Given the description of an element on the screen output the (x, y) to click on. 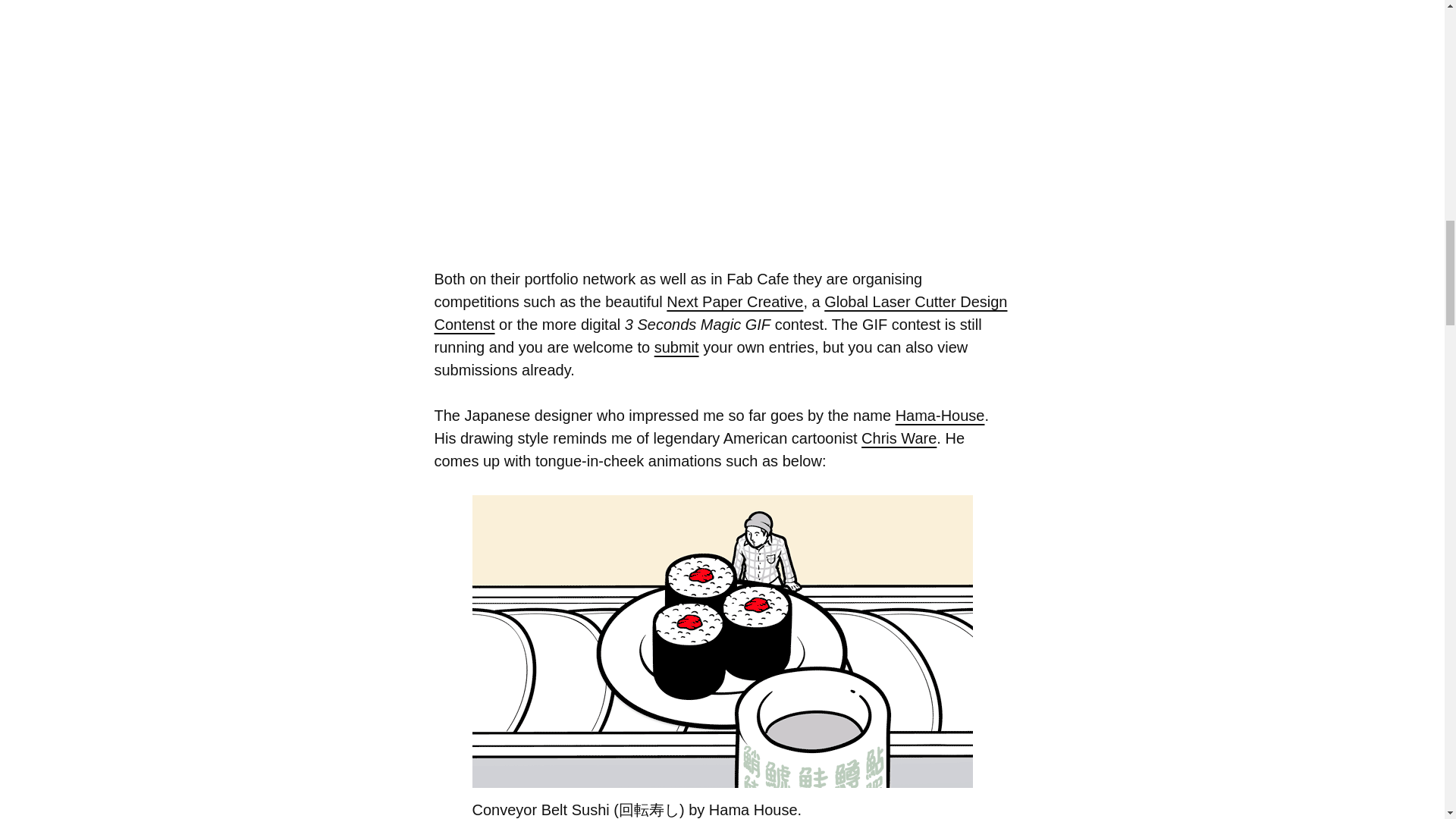
submit (675, 347)
Global Laser Cutter Design Contenst (720, 312)
Chris Ware (898, 437)
Hama-House (940, 415)
Next Paper Creative (734, 301)
